Given the description of an element on the screen output the (x, y) to click on. 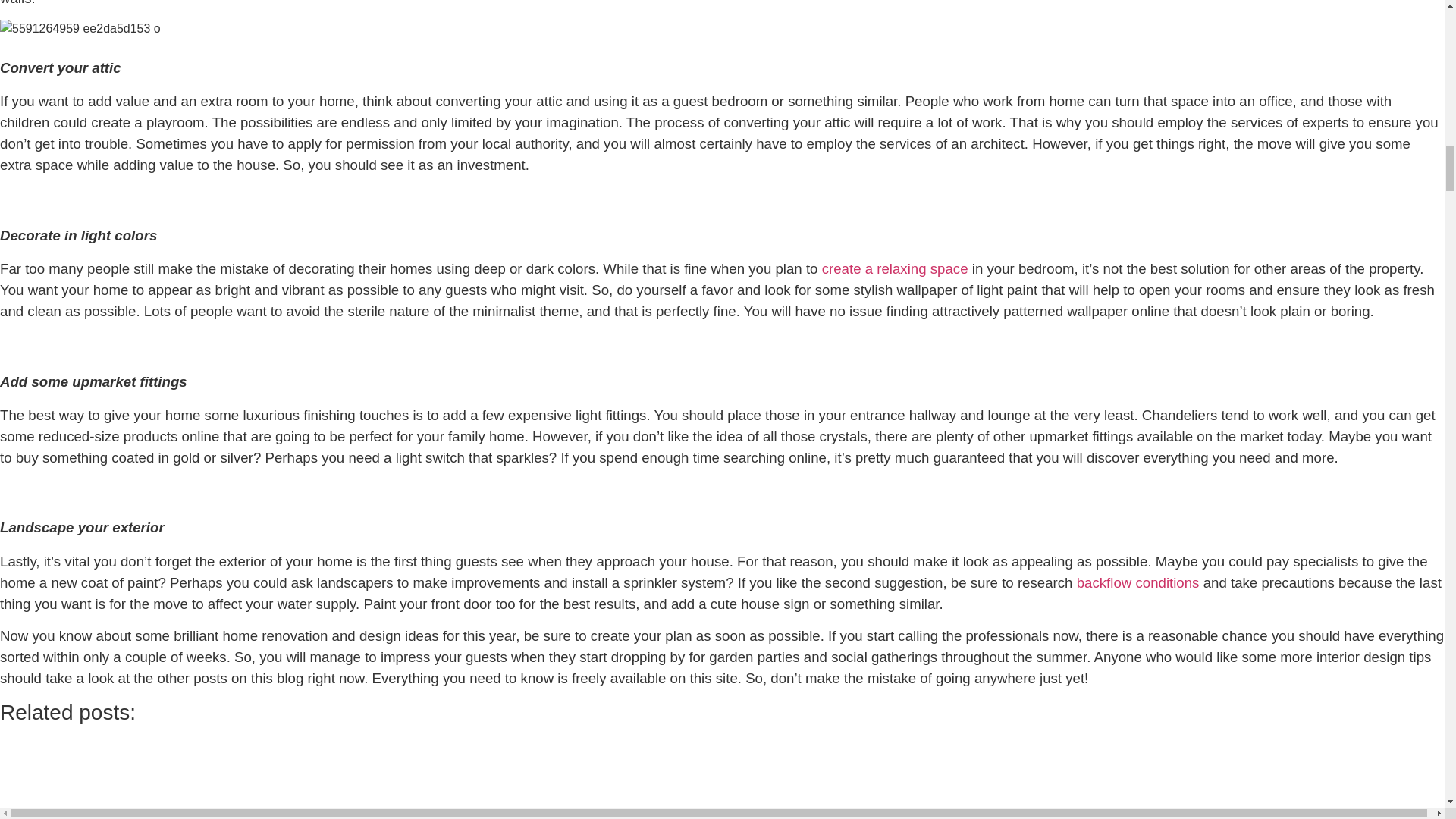
Boutique Hotel Design Trends (538, 780)
Stunning Home Renovation Ideas To Try This Year (80, 28)
Stay in Style at Langham Hotel NYC (838, 780)
